Given the description of an element on the screen output the (x, y) to click on. 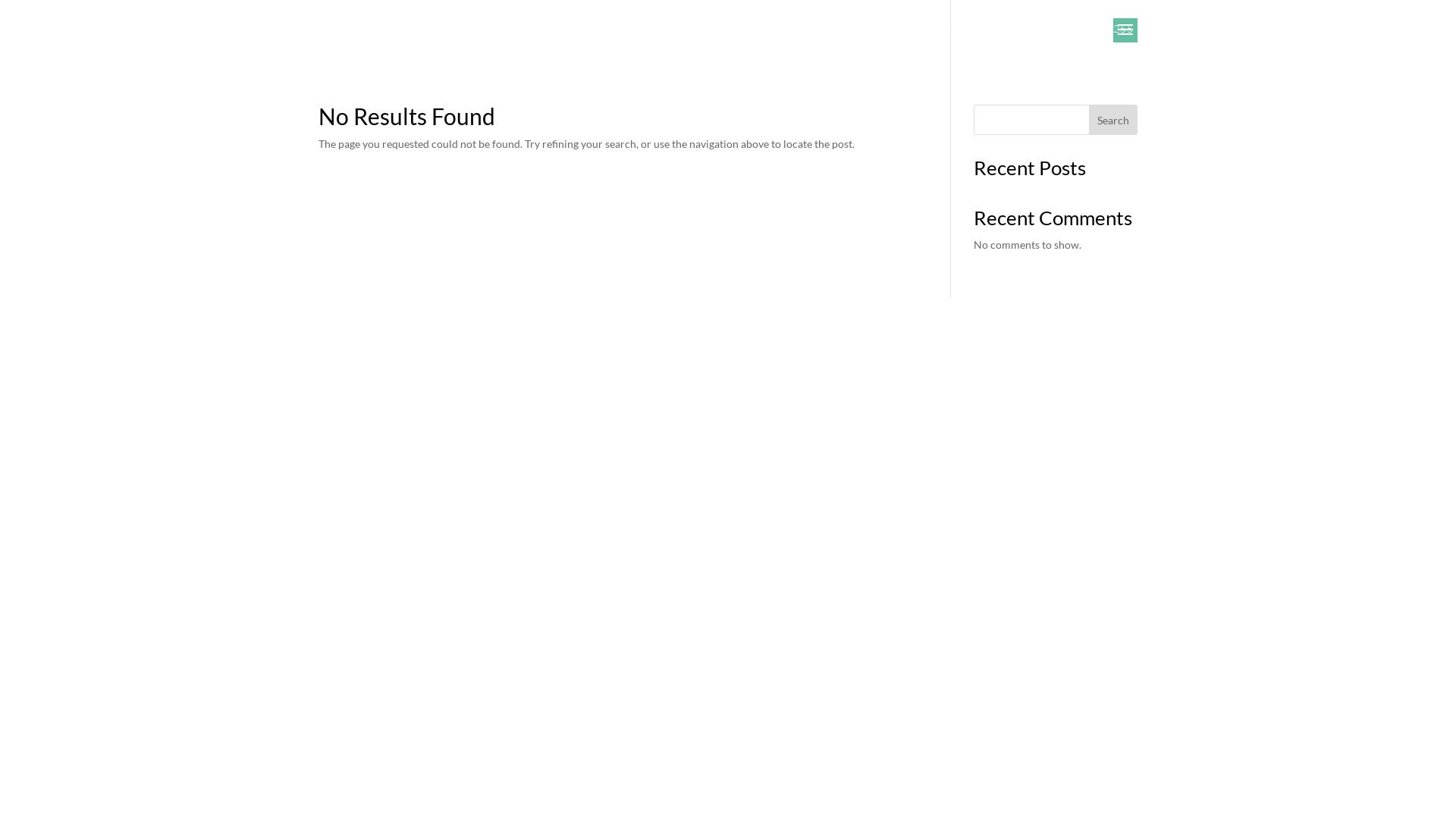
Search Element type: text (1112, 119)
